Given the description of an element on the screen output the (x, y) to click on. 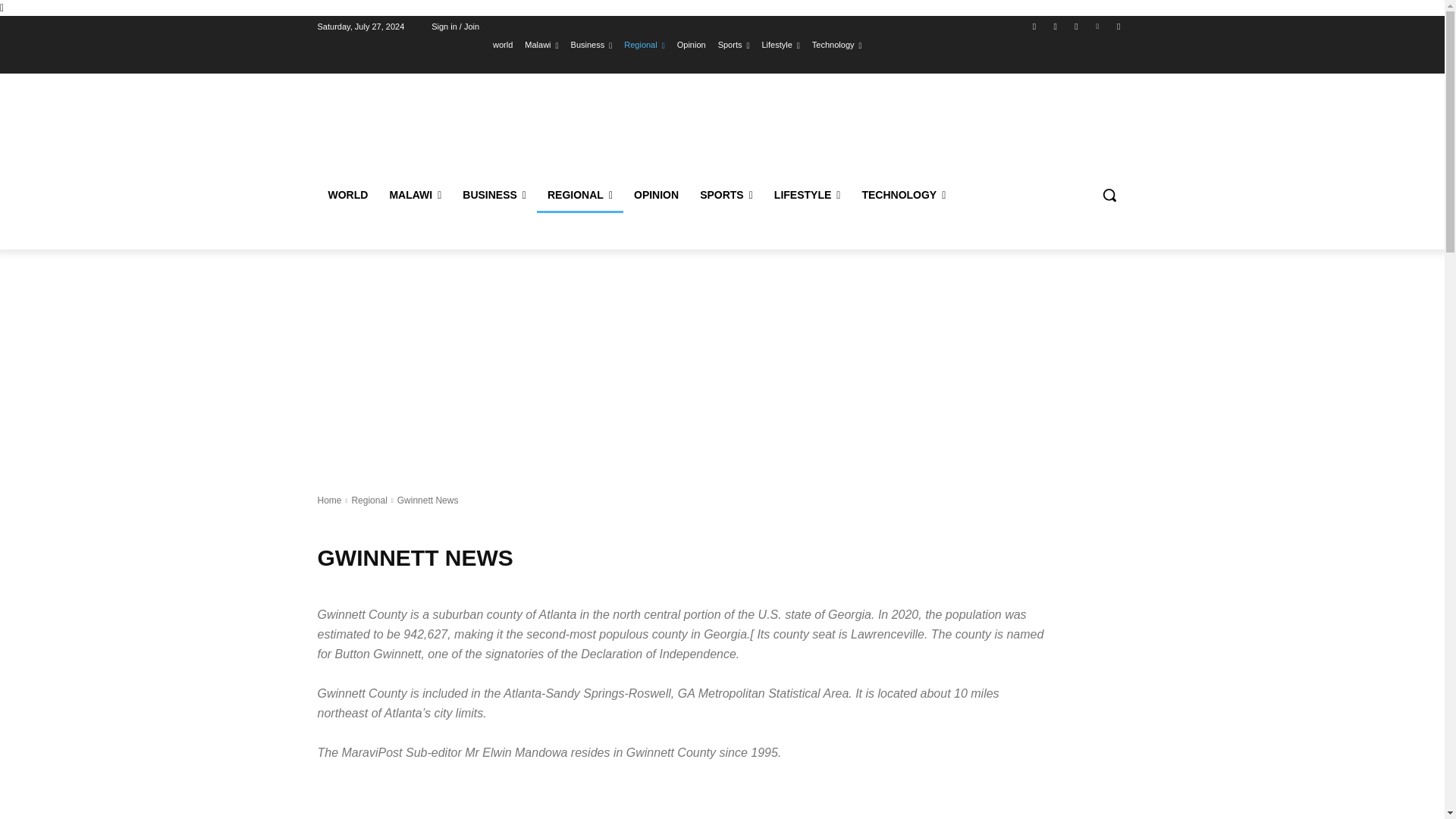
Vimeo (1097, 27)
Youtube (1117, 27)
Instagram (1055, 27)
View all posts in Regional (368, 500)
Facebook (1034, 27)
Twitter (1075, 27)
